Given the description of an element on the screen output the (x, y) to click on. 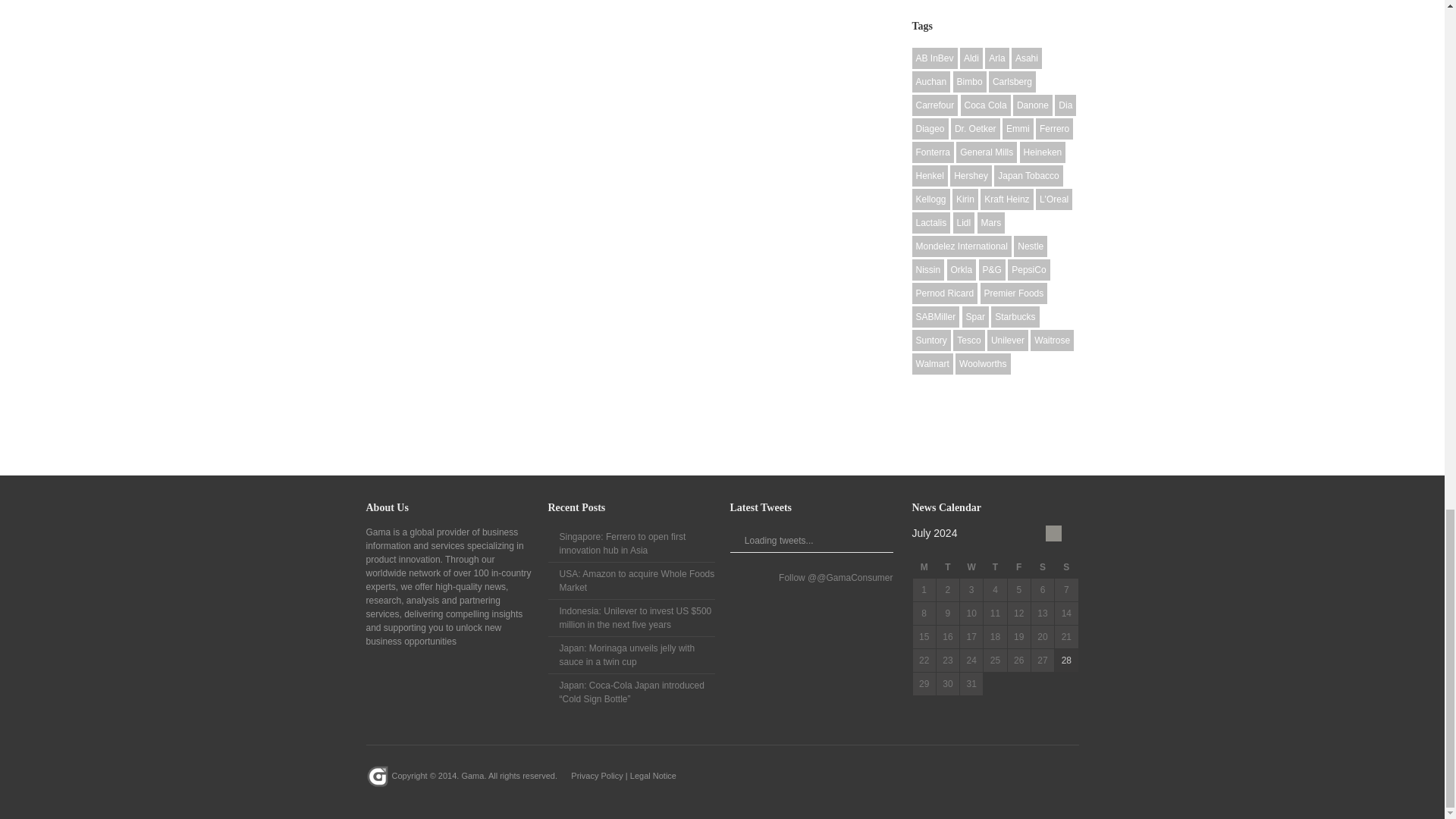
24 topics (997, 57)
18 topics (933, 57)
22 topics (970, 57)
9 topics (930, 81)
9 topics (1026, 57)
